Given the description of an element on the screen output the (x, y) to click on. 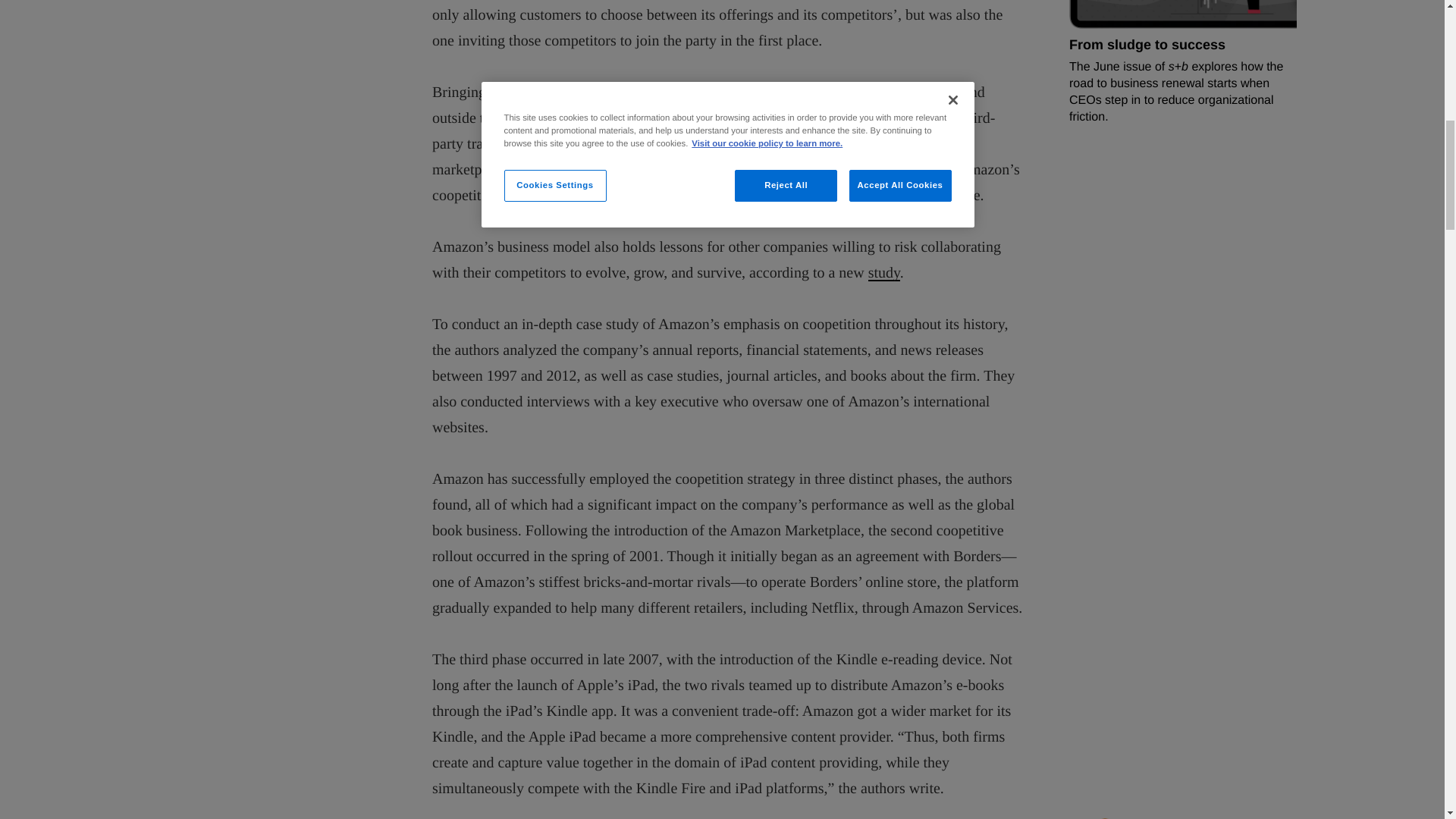
Illustration of flying birds delivering information (1067, 74)
